Given the description of an element on the screen output the (x, y) to click on. 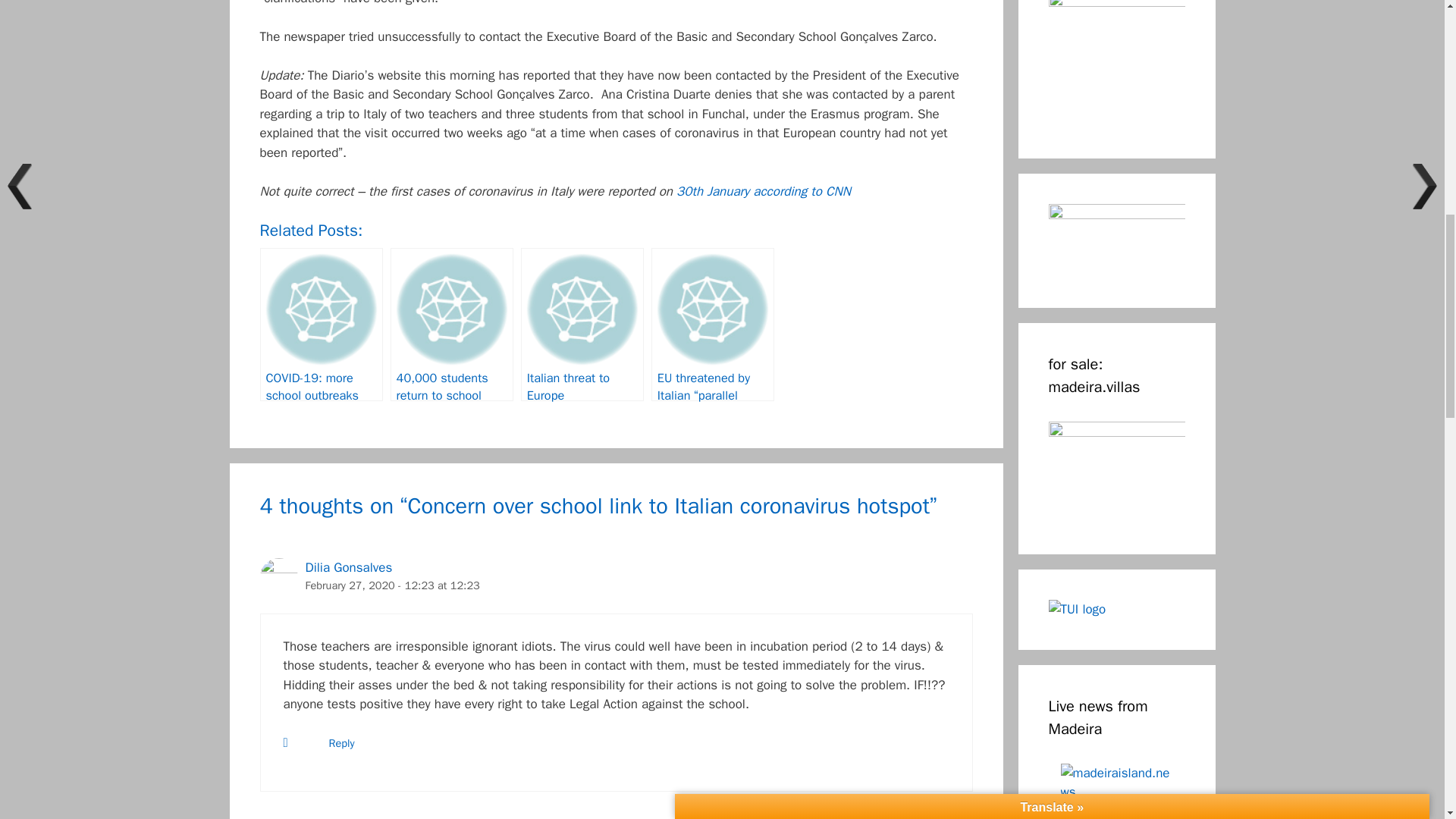
Reply (342, 743)
Dilia Gonsalves (347, 567)
February 27, 2020 - 12:23 at 12:23 (391, 585)
30th January according to CNN (763, 191)
